Given the description of an element on the screen output the (x, y) to click on. 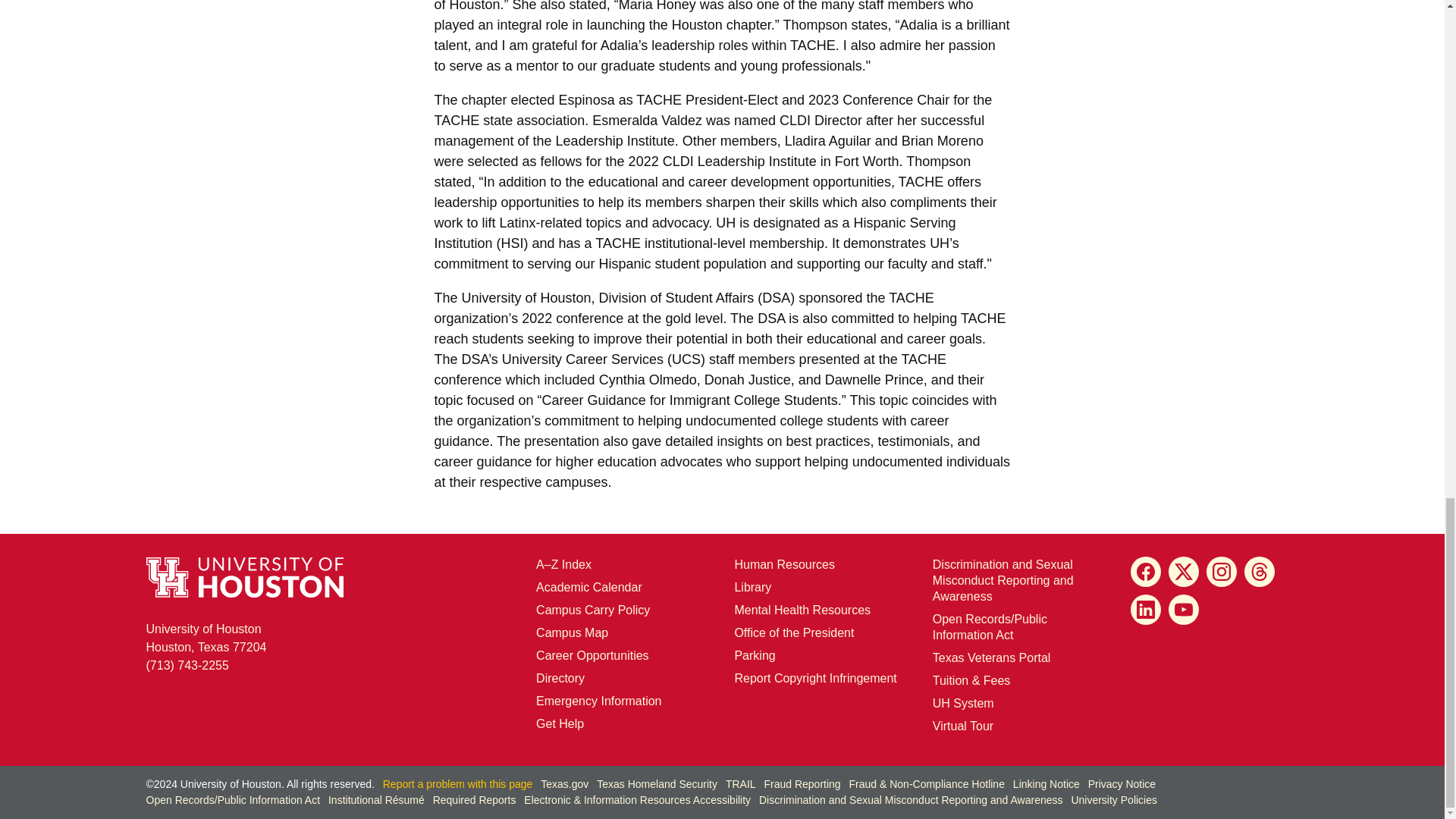
Career Opportunities (592, 655)
UH System (963, 703)
Library (752, 586)
Discrimination and Sexual Misconduct Reporting and Awareness (1003, 579)
University of Houston (939, 242)
University of Houston (725, 222)
LinkedIn (1145, 609)
Human Resources (783, 563)
Virtual Tour (962, 725)
YouTube (1183, 609)
Report Copyright Infringement (814, 677)
Instagram (1221, 571)
Texas Veterans Portal (992, 657)
